Given the description of an element on the screen output the (x, y) to click on. 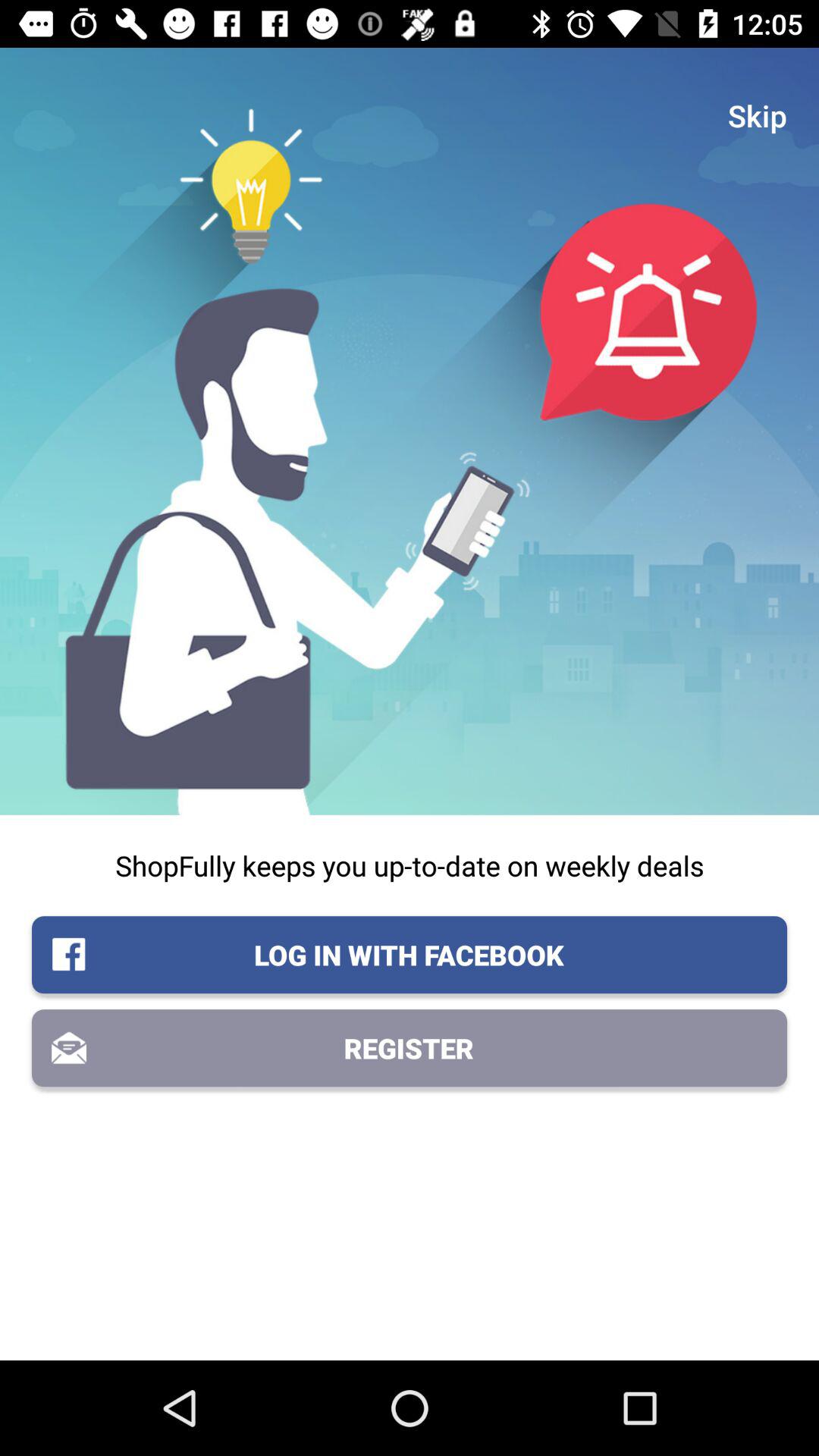
flip until the skip item (757, 115)
